Given the description of an element on the screen output the (x, y) to click on. 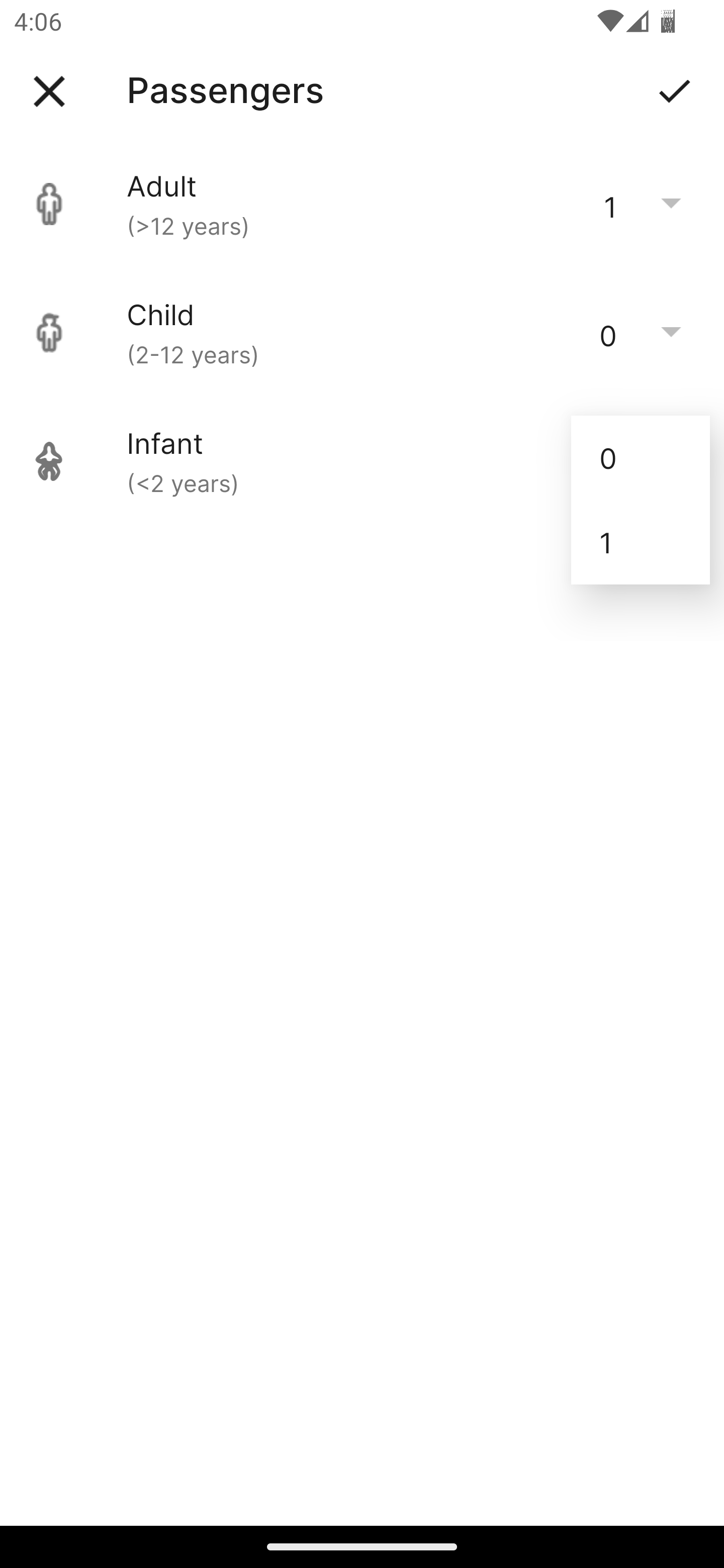
0 (640, 457)
1 (640, 542)
